Given the description of an element on the screen output the (x, y) to click on. 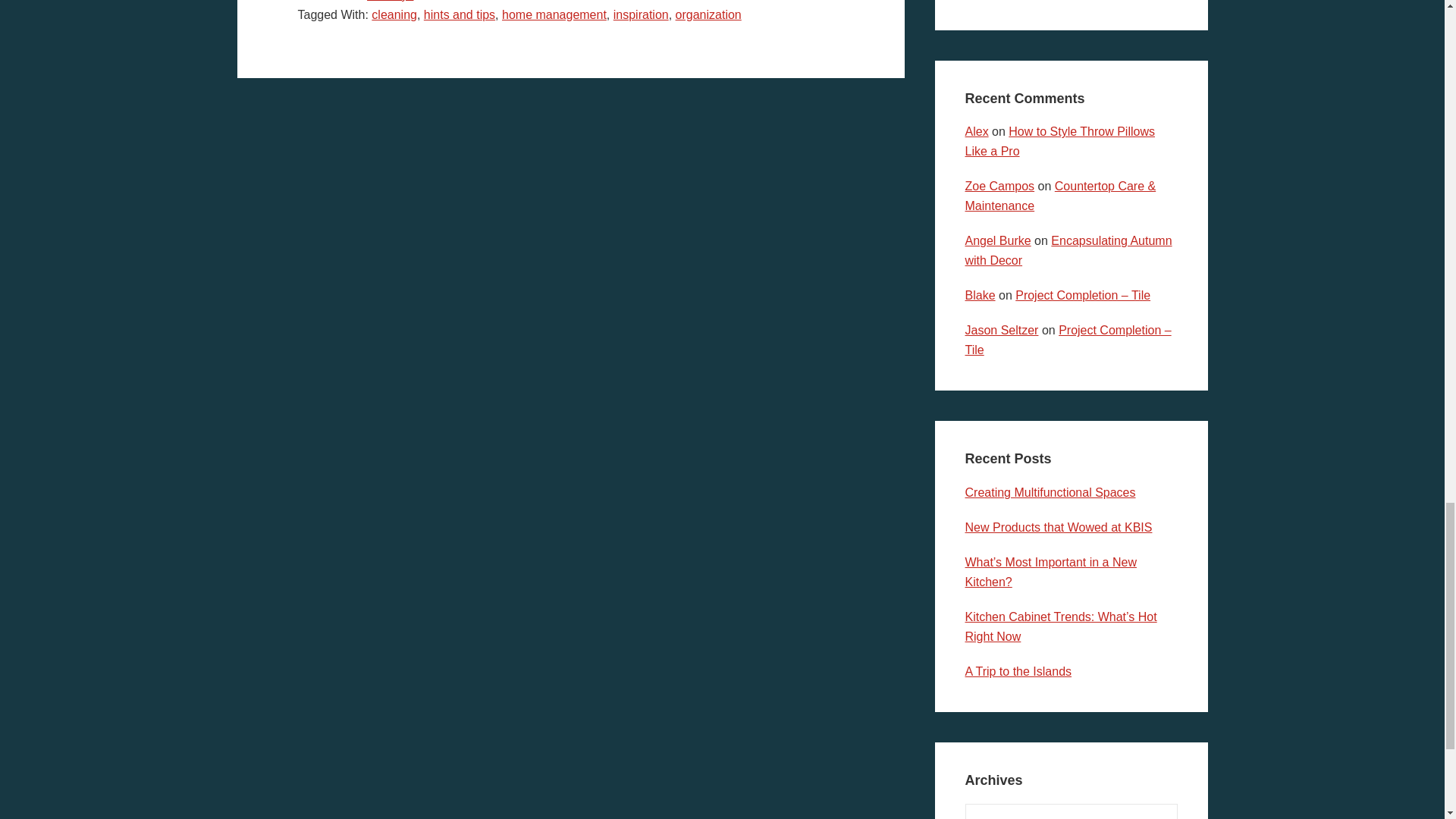
hints and tips (459, 14)
inspiration (640, 14)
cleaning (393, 14)
organization (708, 14)
home management (554, 14)
Holidays (389, 0)
